Given the description of an element on the screen output the (x, y) to click on. 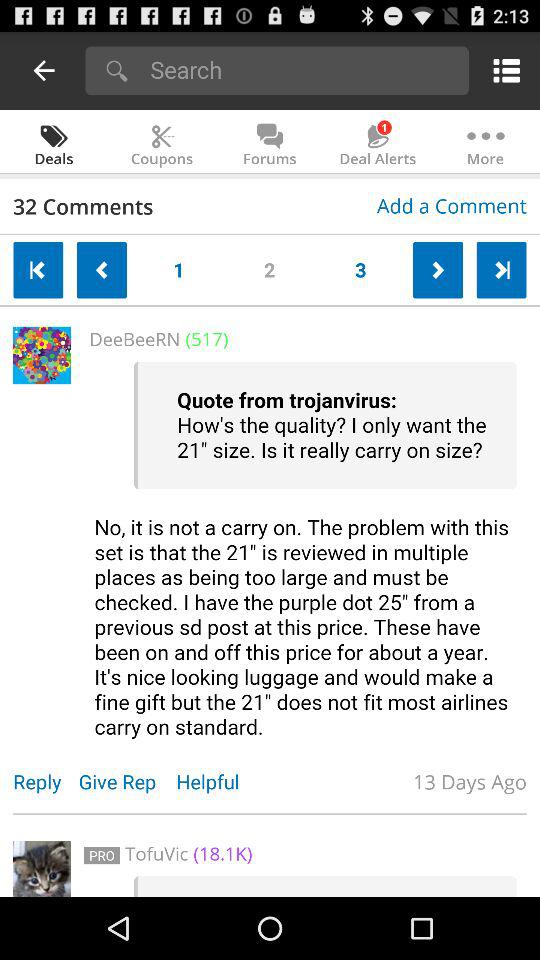
submenu (502, 70)
